Given the description of an element on the screen output the (x, y) to click on. 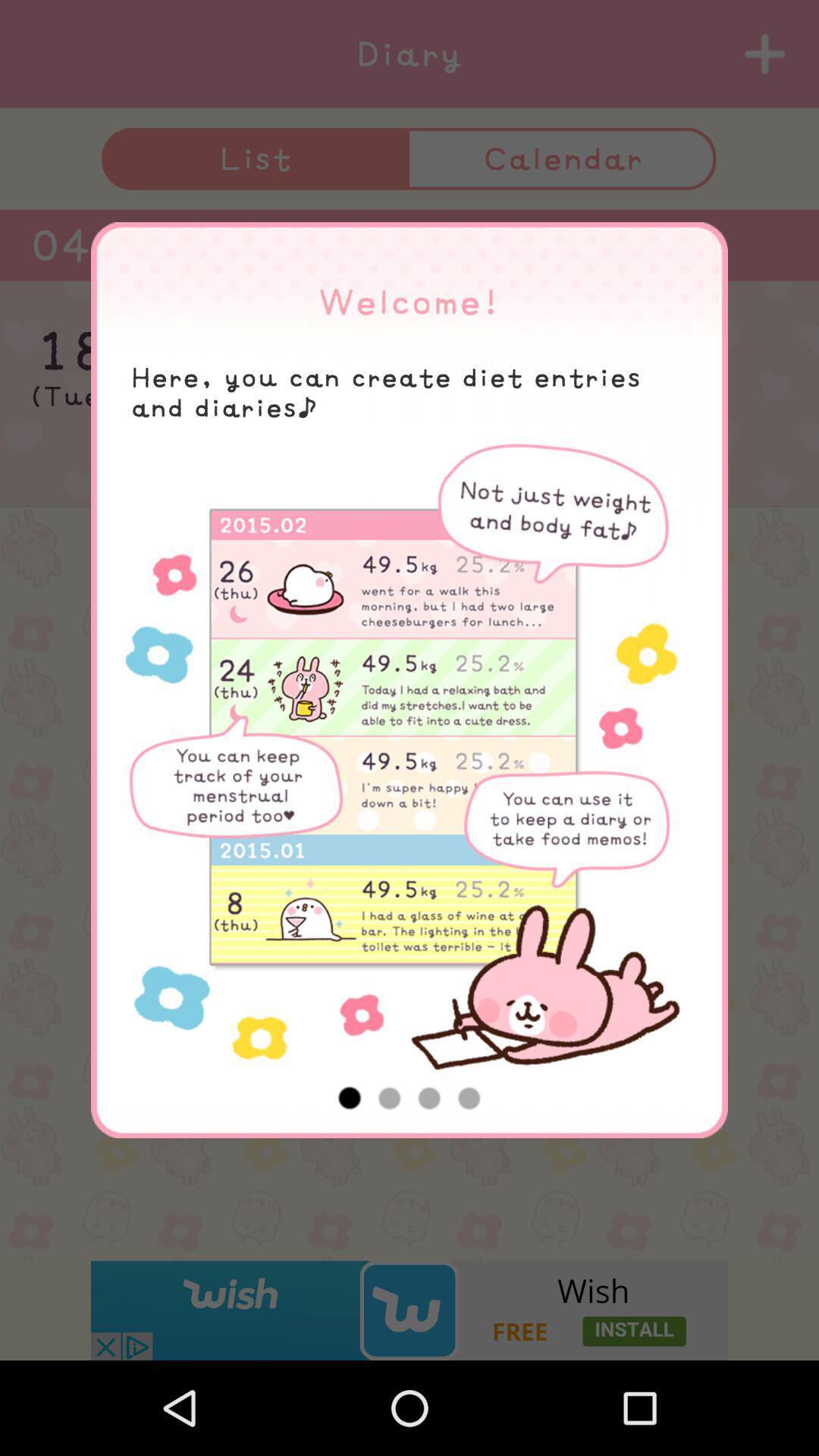
select the emoji which is just above the wish icon (408, 1222)
